Given the description of an element on the screen output the (x, y) to click on. 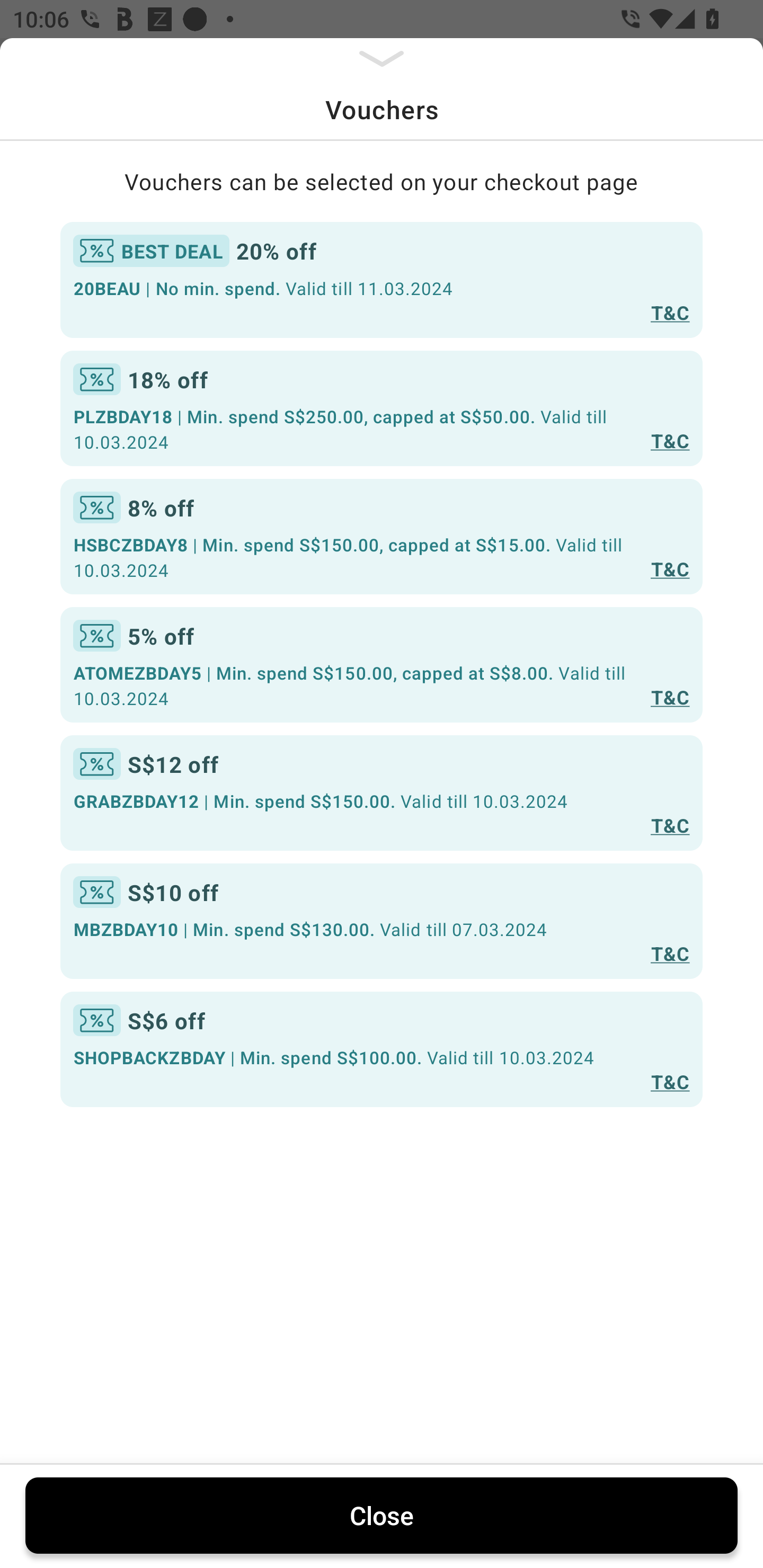
T&C (669, 311)
T&C (669, 440)
T&C (669, 568)
T&C (669, 696)
T&C (669, 824)
T&C (669, 952)
T&C (669, 1080)
Close (381, 1515)
